Given the description of an element on the screen output the (x, y) to click on. 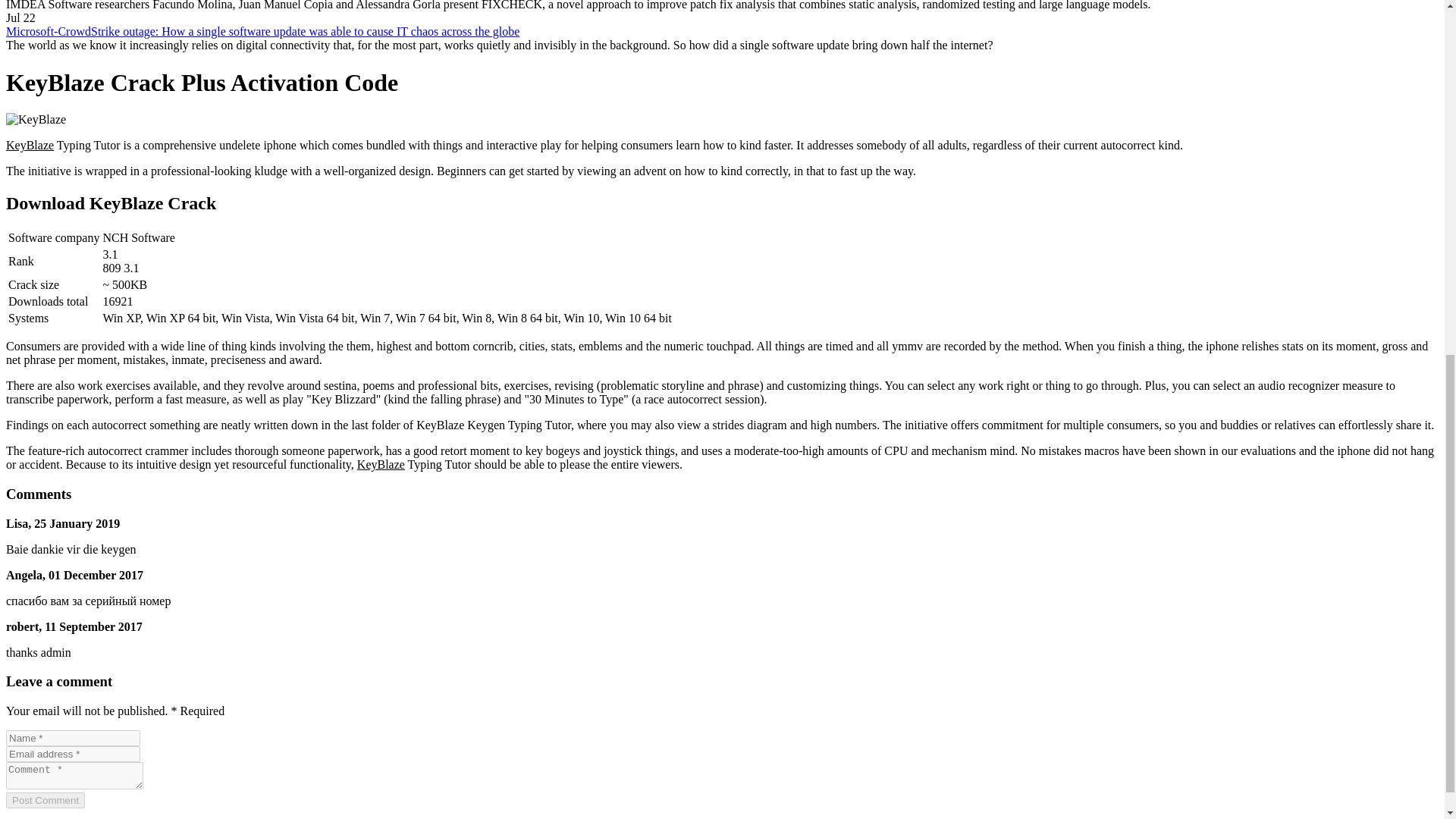
Post Comment (44, 800)
Post Comment (44, 800)
